Given the description of an element on the screen output the (x, y) to click on. 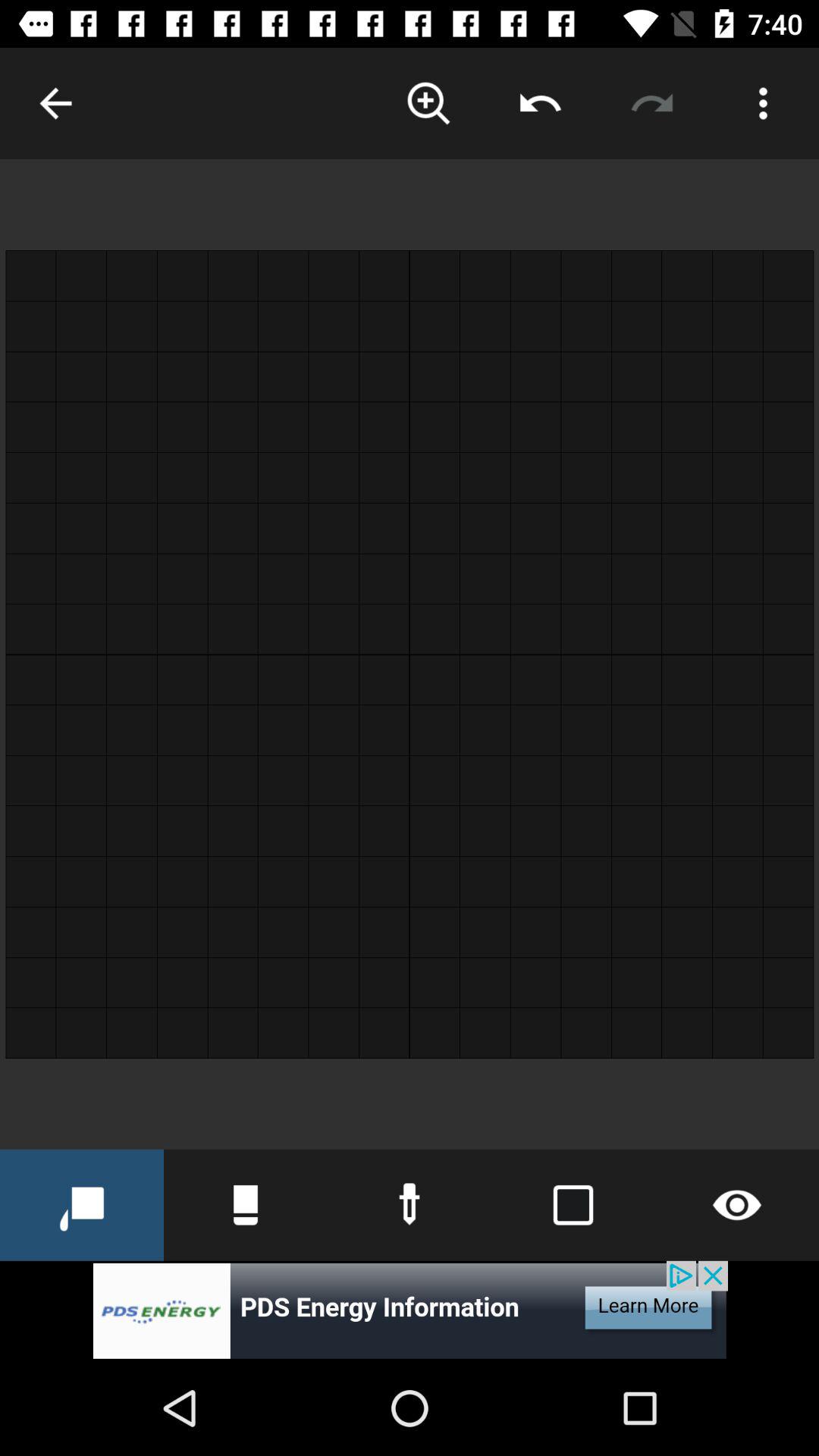
option (763, 103)
